Given the description of an element on the screen output the (x, y) to click on. 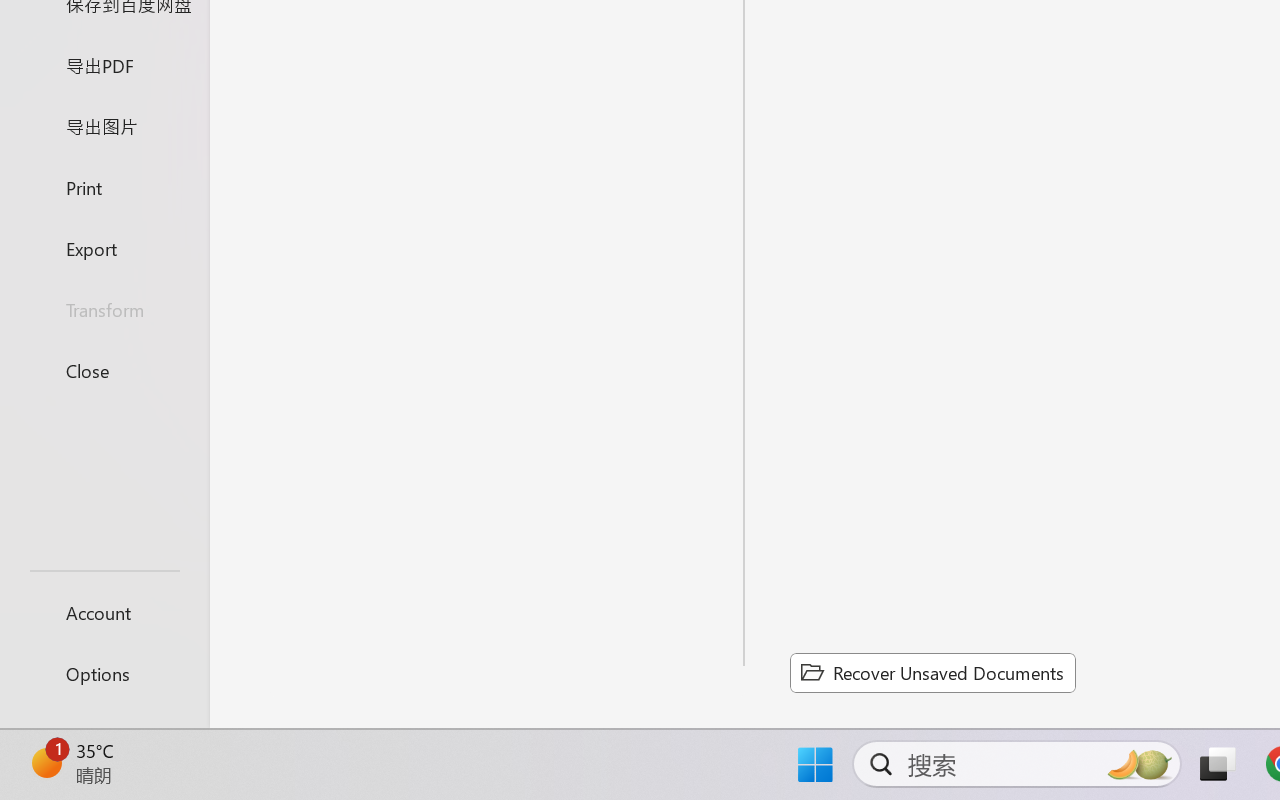
Print (104, 186)
Account (104, 612)
Options (104, 673)
Transform (104, 309)
Recover Unsaved Documents (932, 672)
Export (104, 248)
